Given the description of an element on the screen output the (x, y) to click on. 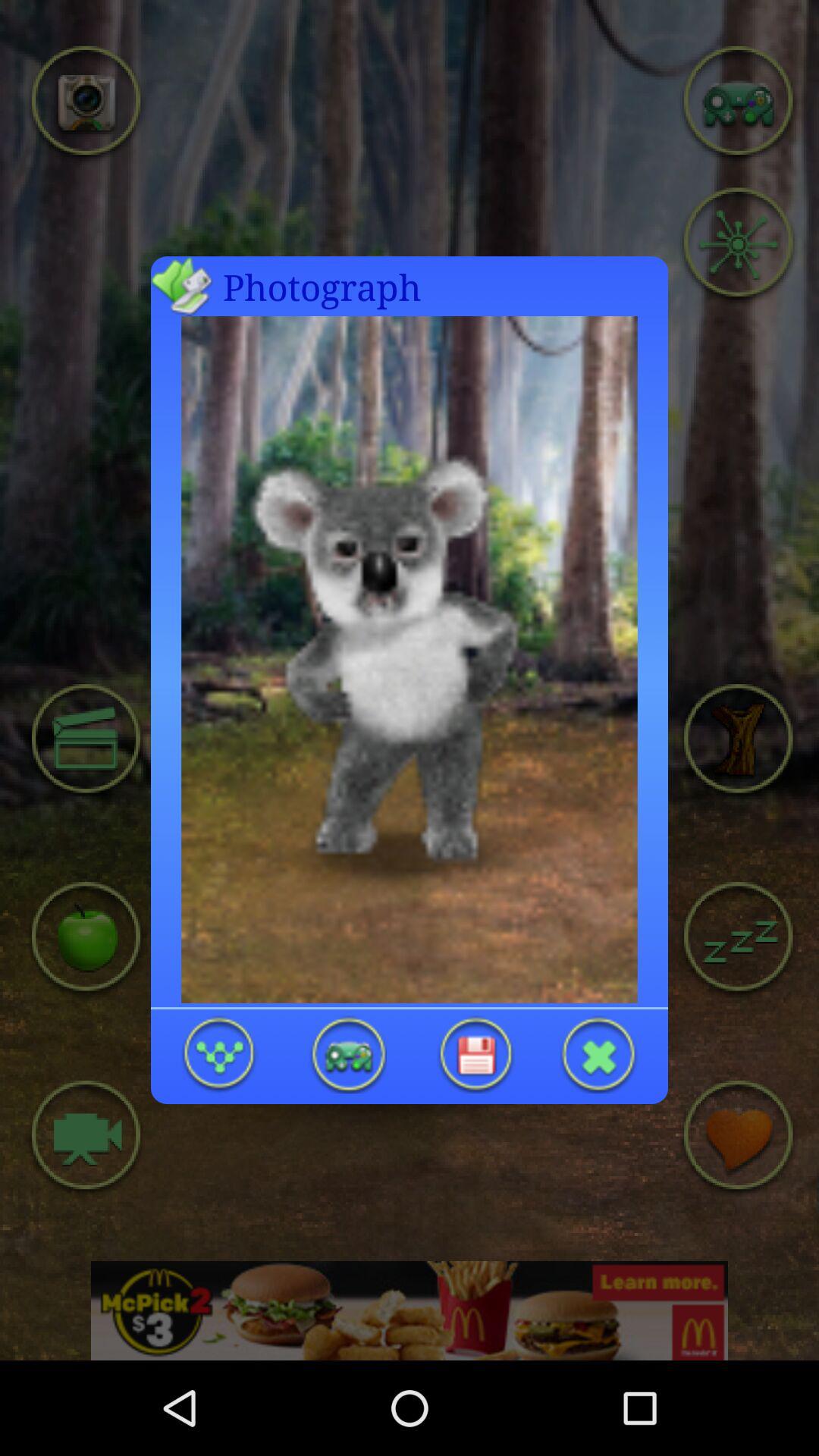
save the changes (475, 1054)
